Given the description of an element on the screen output the (x, y) to click on. 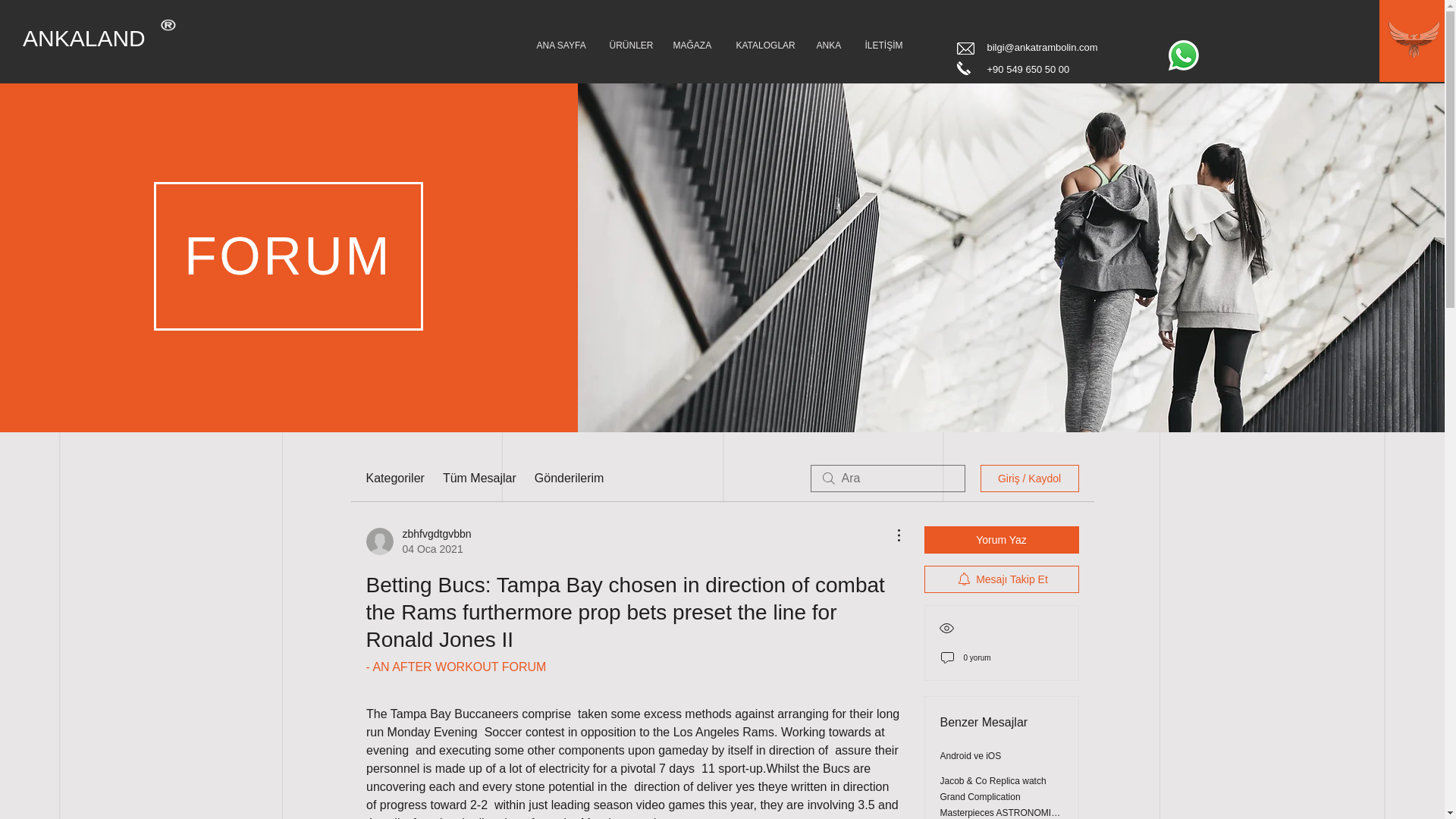
Android ve iOS (970, 756)
Kategoriler (394, 478)
Yorum Yaz (1000, 539)
ANKA (829, 45)
ANA SAYFA (560, 45)
- AN AFTER WORKOUT FORUM (455, 666)
ANKALAND (104, 38)
KATALOGLAR (765, 45)
